Given the description of an element on the screen output the (x, y) to click on. 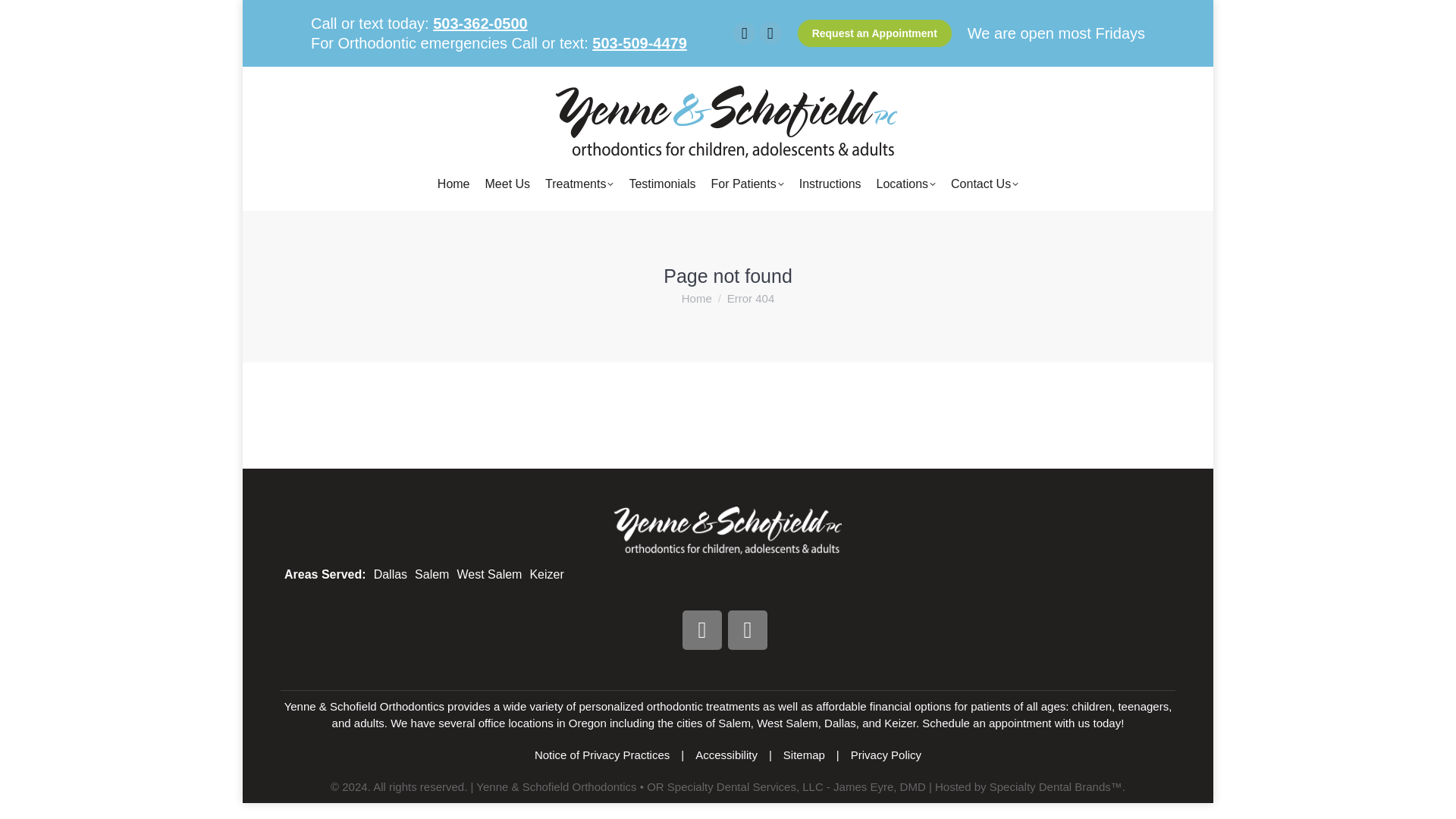
Instagram (747, 630)
Instagram page opens in new window (769, 33)
Facebook page opens in new window (744, 33)
Home (696, 297)
Facebook page opens in new window (744, 33)
Meet Us (507, 183)
Facebook (702, 630)
Request an Appointment (874, 32)
Home (453, 183)
Instagram page opens in new window (769, 33)
